Given the description of an element on the screen output the (x, y) to click on. 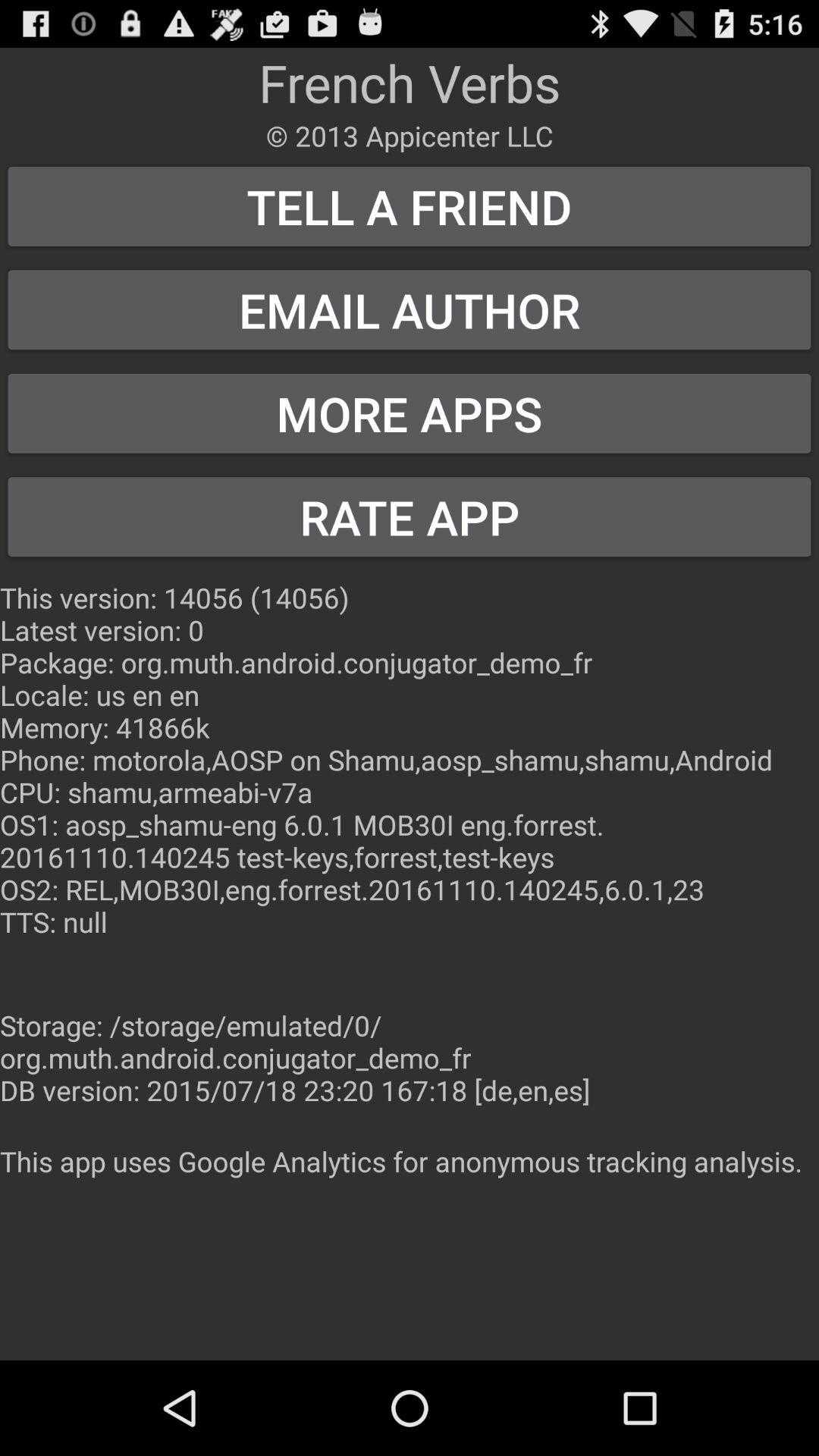
scroll until the email author (409, 309)
